Given the description of an element on the screen output the (x, y) to click on. 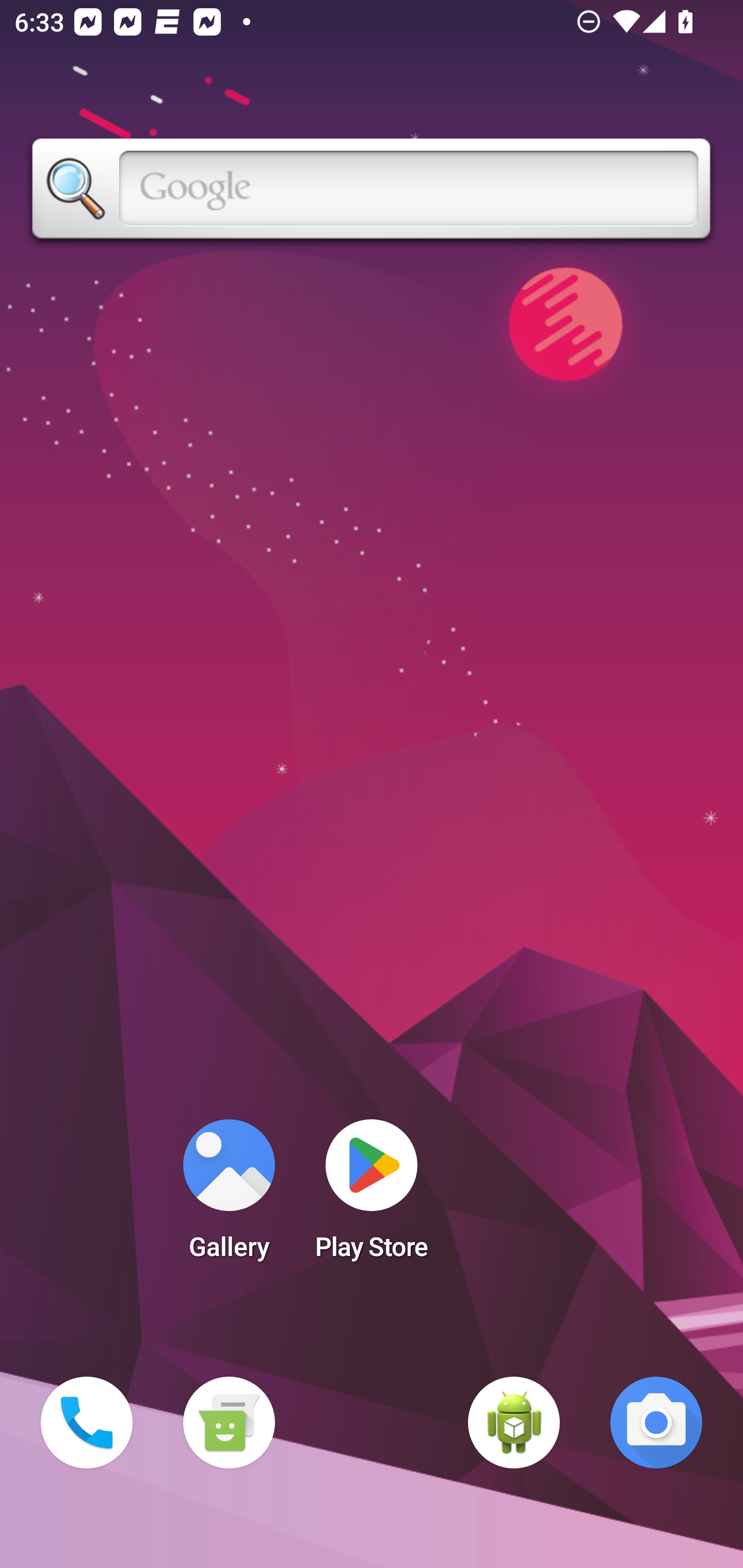
Gallery (228, 1195)
Play Store (371, 1195)
Phone (86, 1422)
Messaging (228, 1422)
WebView Browser Tester (513, 1422)
Camera (656, 1422)
